Given the description of an element on the screen output the (x, y) to click on. 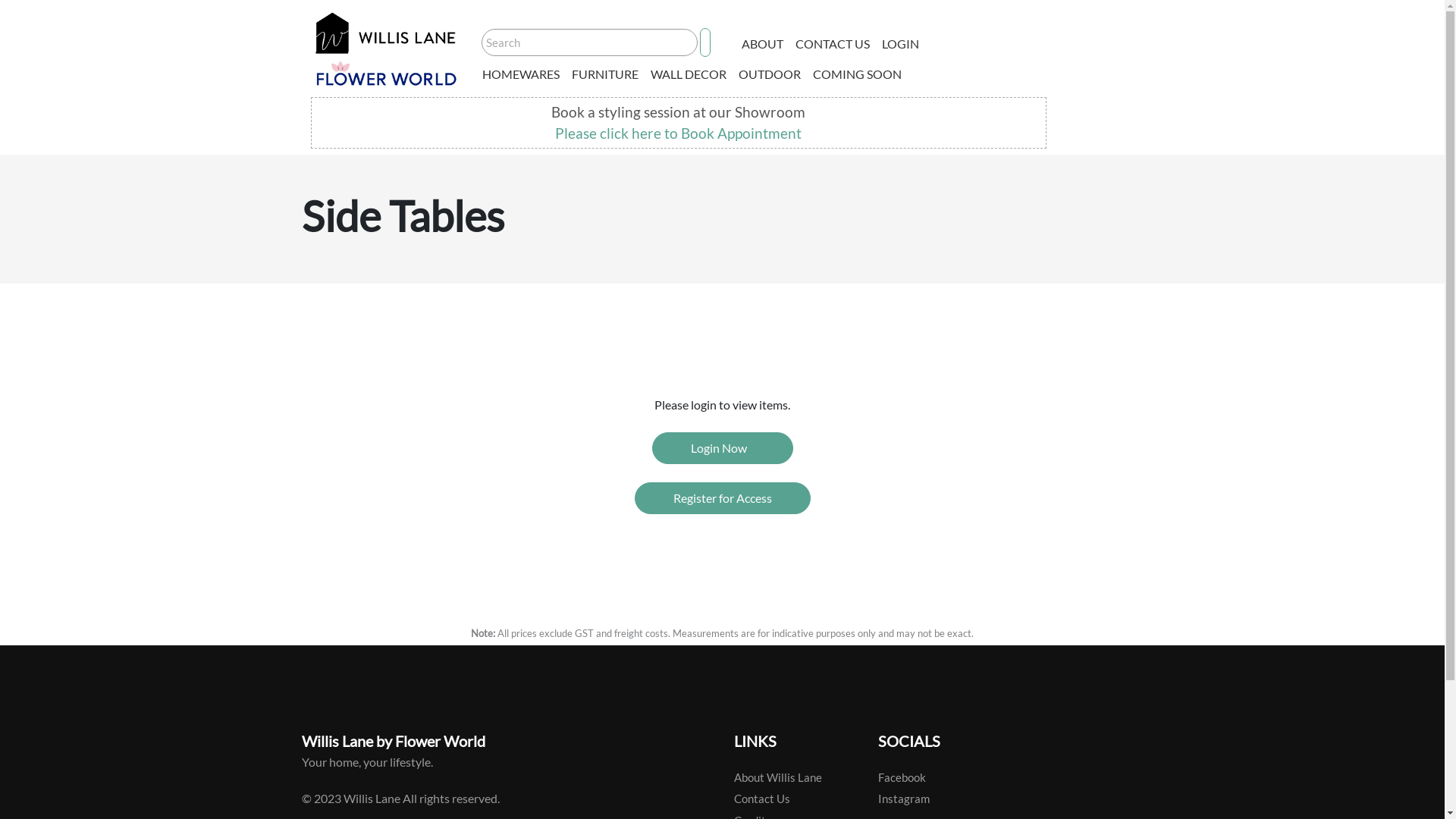
Please click here to Book Appointment Element type: text (678, 133)
HOMEWARES Element type: text (520, 74)
Register for Access Element type: text (721, 498)
OUTDOOR Element type: text (769, 74)
Login Now Element type: text (722, 448)
About Willis Lane Element type: text (778, 777)
COMING SOON Element type: text (856, 74)
Contact Us Element type: text (762, 798)
ABOUT Element type: text (762, 43)
CONTACT US Element type: text (832, 43)
LOGIN Element type: text (900, 43)
WALL DECOR Element type: text (688, 74)
Instagram Element type: text (903, 798)
FURNITURE Element type: text (604, 74)
Facebook Element type: text (901, 777)
